Given the description of an element on the screen output the (x, y) to click on. 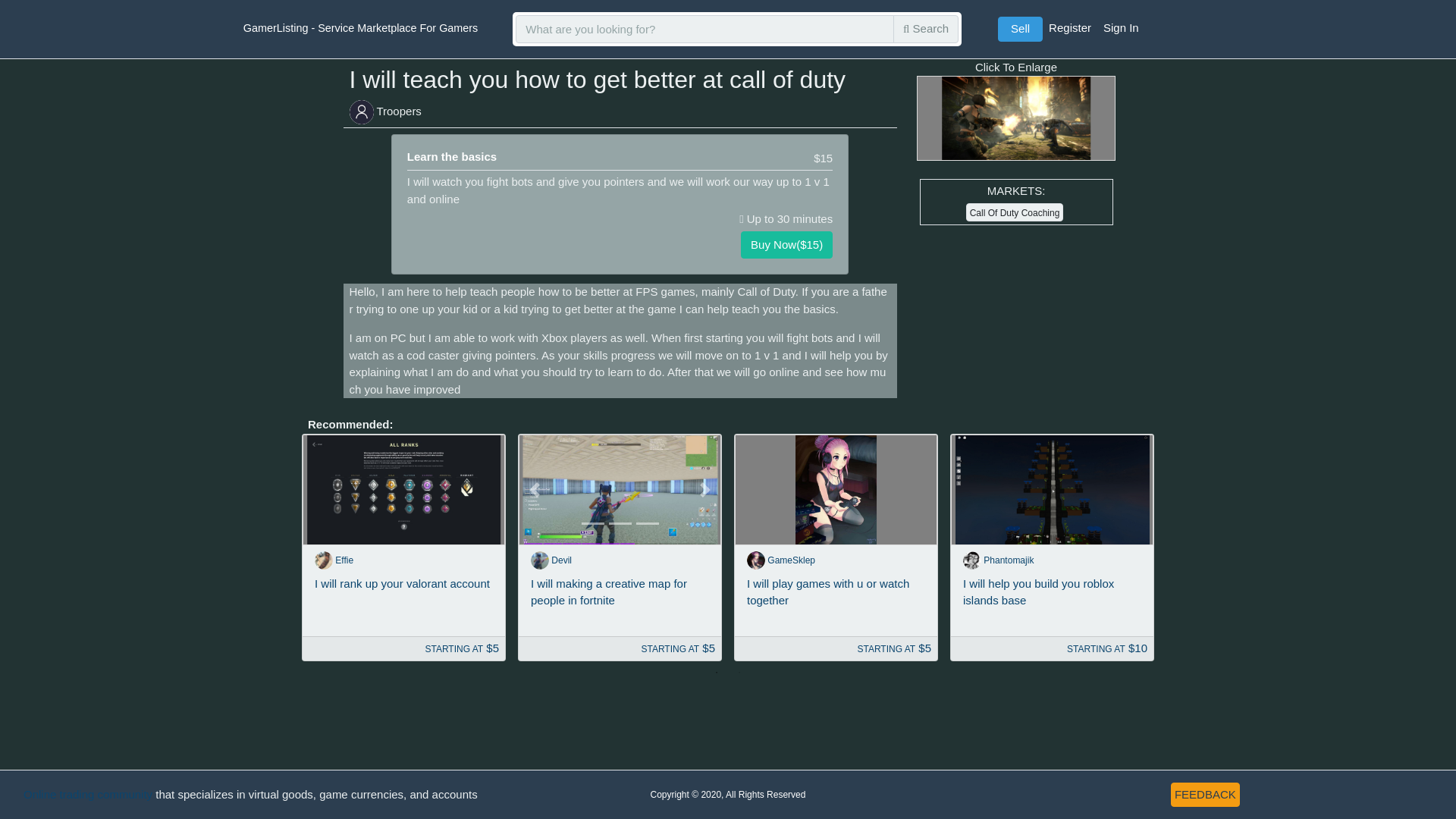
Register (1069, 28)
Troopers (397, 110)
Sell (1019, 28)
Call Of Duty Coaching (1015, 212)
GamerListing - Service Marketplace For Gamers (250, 28)
Sign In (1120, 28)
